Given the description of an element on the screen output the (x, y) to click on. 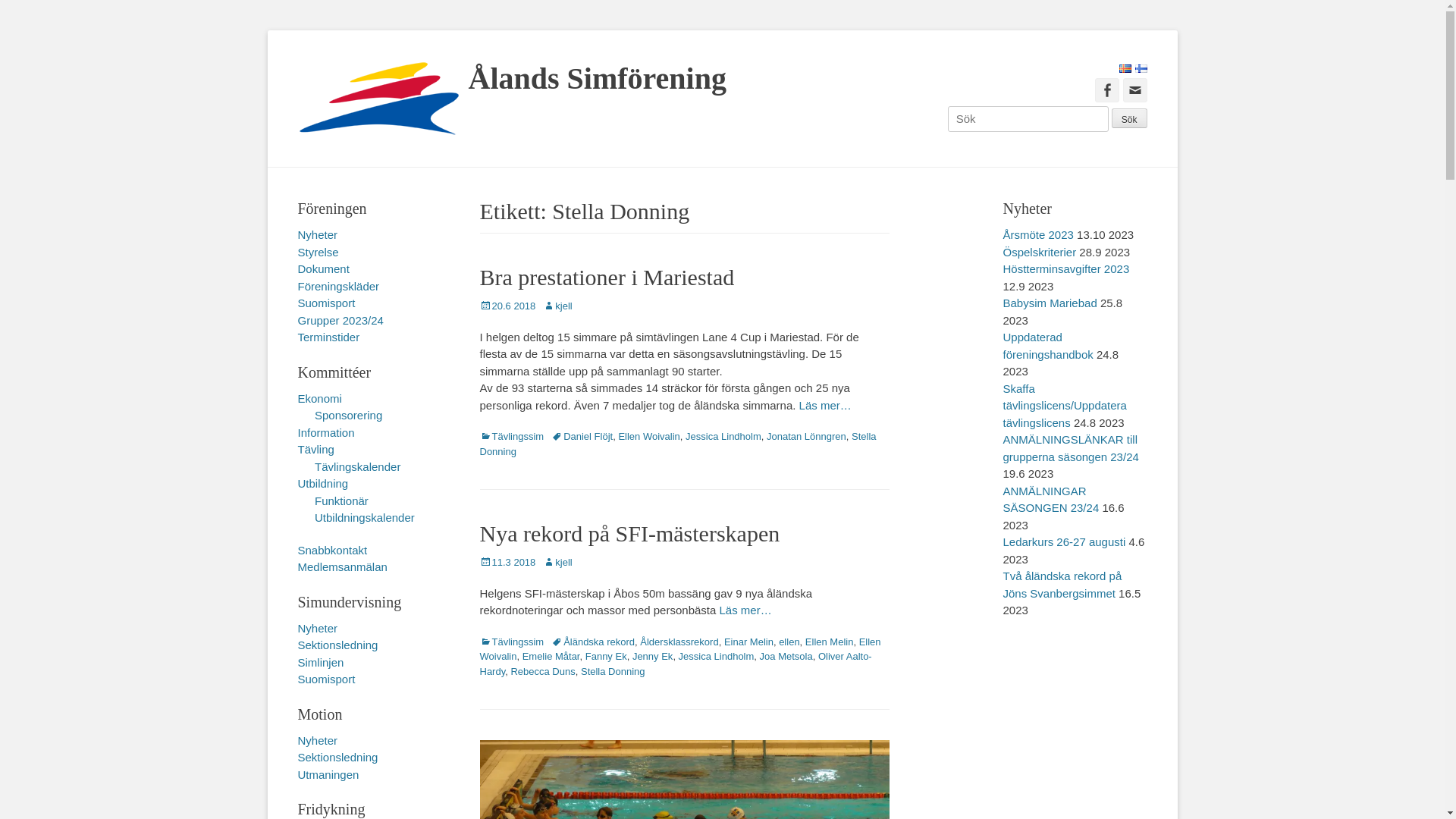
Simlinjen Element type: text (320, 661)
Ekonomi Element type: text (319, 397)
ellen Element type: text (788, 640)
Stella Donning Element type: text (612, 671)
Styrelse Element type: text (317, 251)
Facebook Element type: text (1107, 89)
E-post Element type: text (1134, 89)
Utbildningskalender Element type: text (364, 517)
kjell Element type: text (556, 561)
Ledarkurs 26-27 augusti Element type: text (1063, 541)
Sektionsledning Element type: text (337, 644)
Joa Metsola Element type: text (785, 656)
Snabbkontakt Element type: text (332, 548)
Fanny Ek Element type: text (606, 656)
Jenny Ek Element type: text (652, 656)
Ellen Woivalin Element type: text (648, 436)
Jessica Lindholm Element type: text (716, 656)
Einar Melin Element type: text (748, 640)
Information Element type: text (325, 432)
11.3 2018 Element type: text (507, 561)
Utmaningen Element type: text (327, 773)
Bra prestationer i Mariestad Element type: text (606, 276)
Dokument Element type: text (322, 268)
Oliver Aalto-Hardy Element type: text (675, 663)
20.6 2018 Element type: text (507, 305)
Ellen Woivalin Element type: text (679, 648)
Grupper 2023/24 Element type: text (339, 319)
Suomisport Element type: text (325, 678)
Nyheter Element type: text (317, 740)
Nyheter Element type: text (317, 234)
Suomisport Element type: text (325, 302)
Terminstider Element type: text (328, 336)
Utbildning Element type: text (322, 482)
kjell Element type: text (556, 305)
Nyheter Element type: text (317, 627)
Sektionsledning Element type: text (337, 756)
Rebecca Duns Element type: text (542, 671)
Stella Donning Element type: text (677, 443)
Ellen Melin Element type: text (829, 640)
Babysim Mariebad Element type: text (1049, 302)
Jessica Lindholm Element type: text (723, 436)
Sponsorering Element type: text (348, 414)
